Given the description of an element on the screen output the (x, y) to click on. 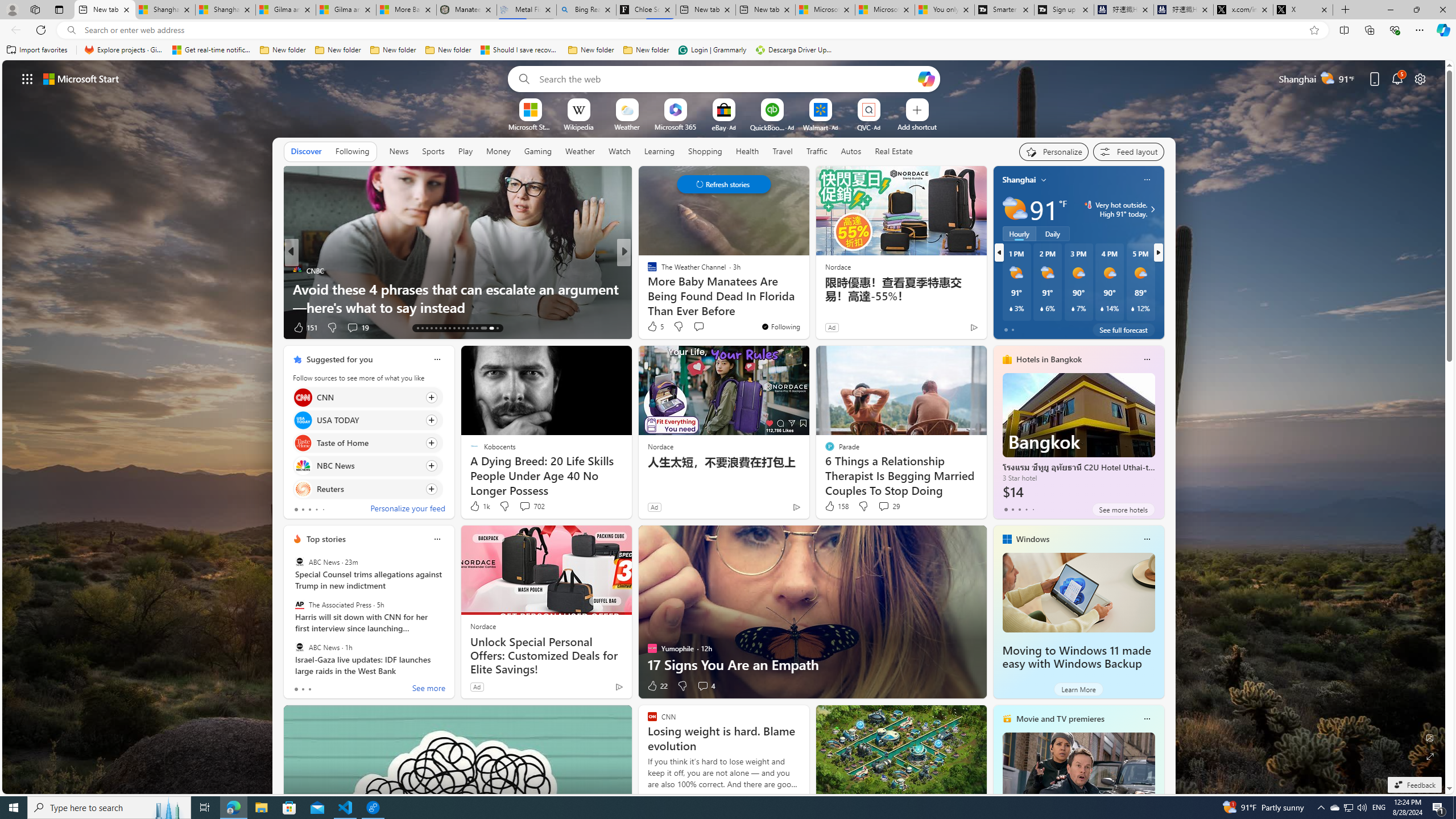
Microsoft start (81, 78)
AutomationID: tab-42 (497, 328)
New folder (646, 49)
AutomationID: backgroundImagePicture (723, 426)
